Given the description of an element on the screen output the (x, y) to click on. 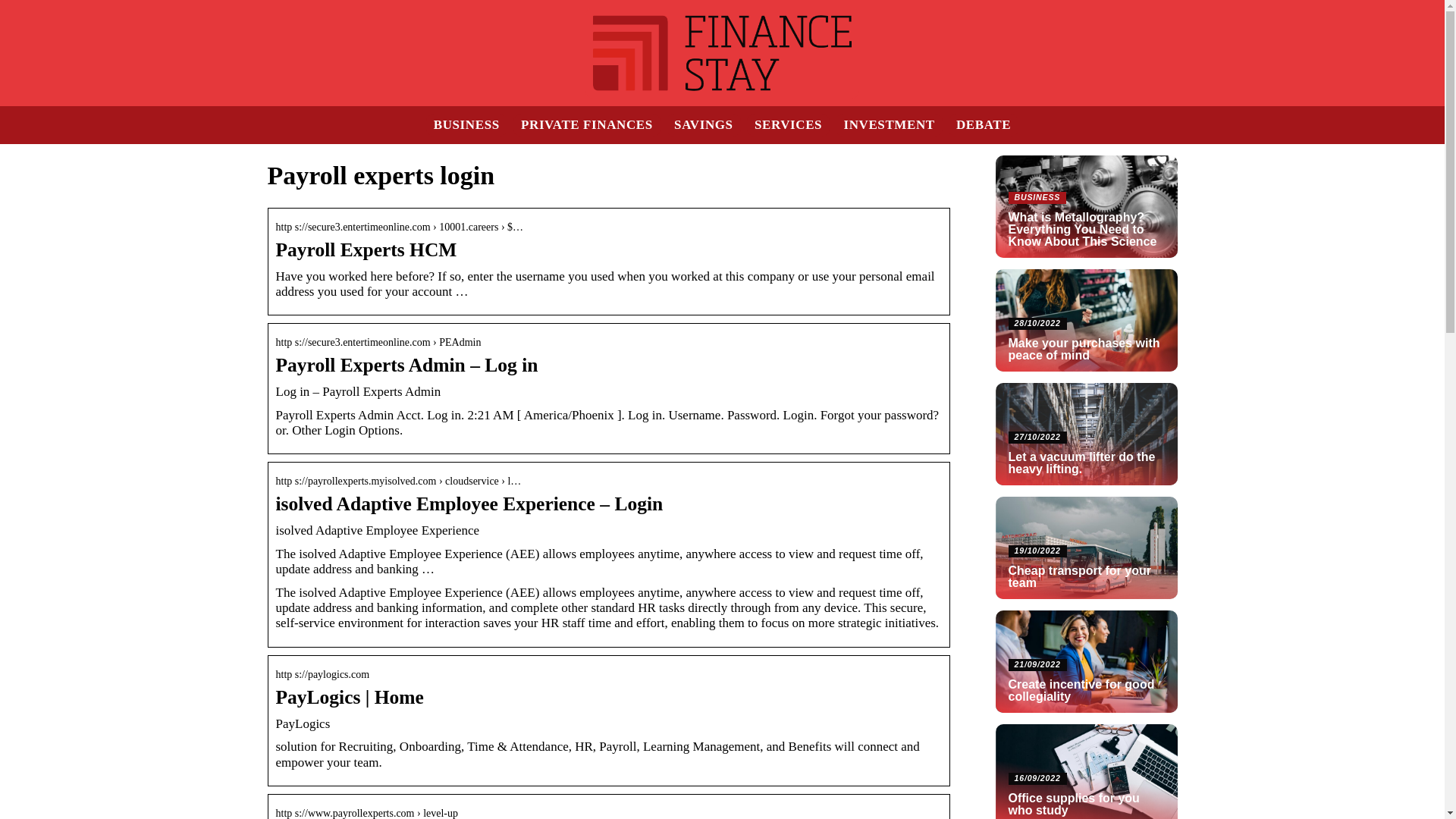
SAVINGS (703, 124)
SERVICES (788, 124)
DEBATE (983, 124)
BUSINESS (466, 124)
PRIVATE FINANCES (586, 124)
INVESTMENT (888, 124)
